Given the description of an element on the screen output the (x, y) to click on. 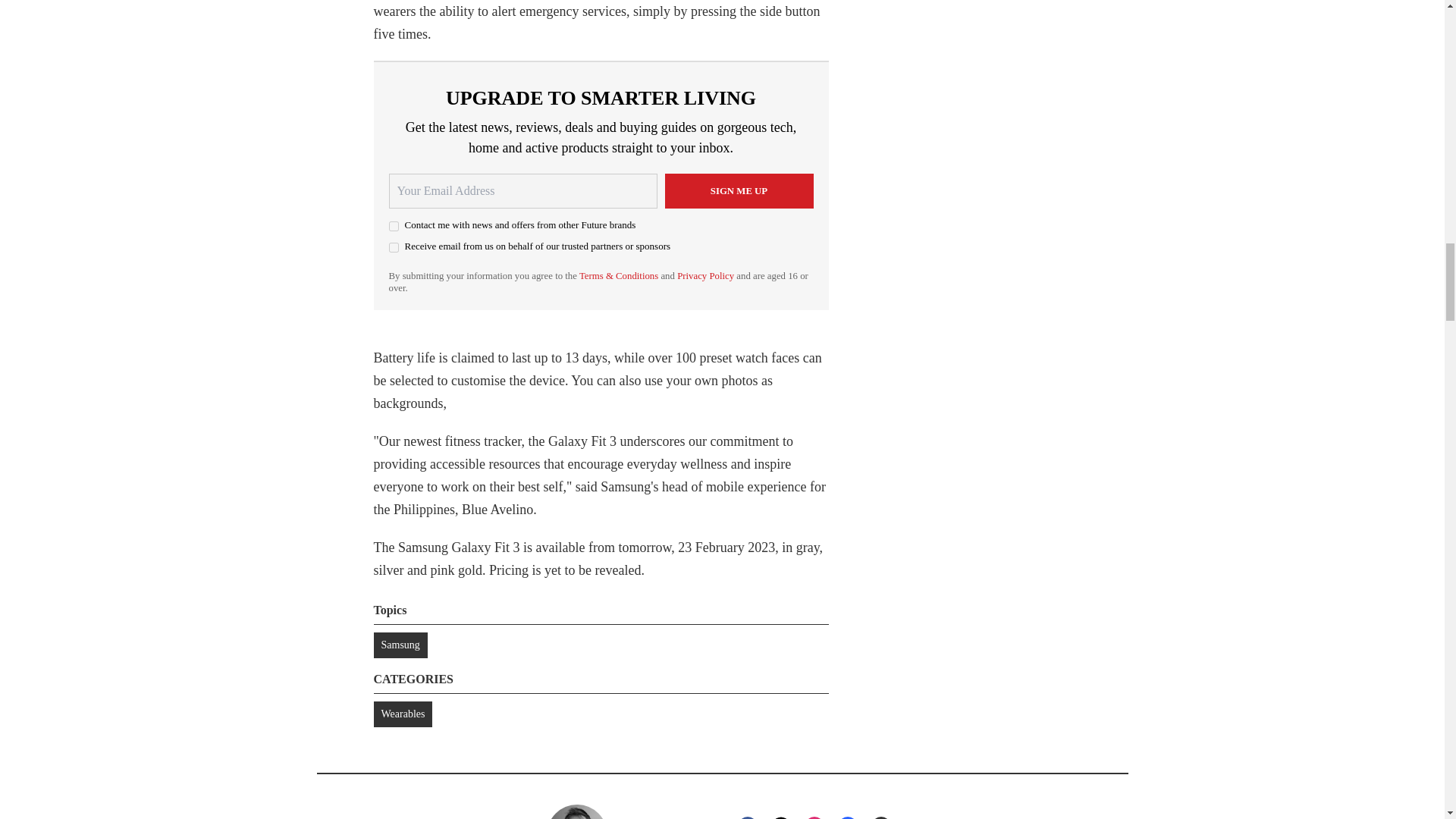
on (392, 247)
Sign me up (737, 190)
on (392, 225)
